Given the description of an element on the screen output the (x, y) to click on. 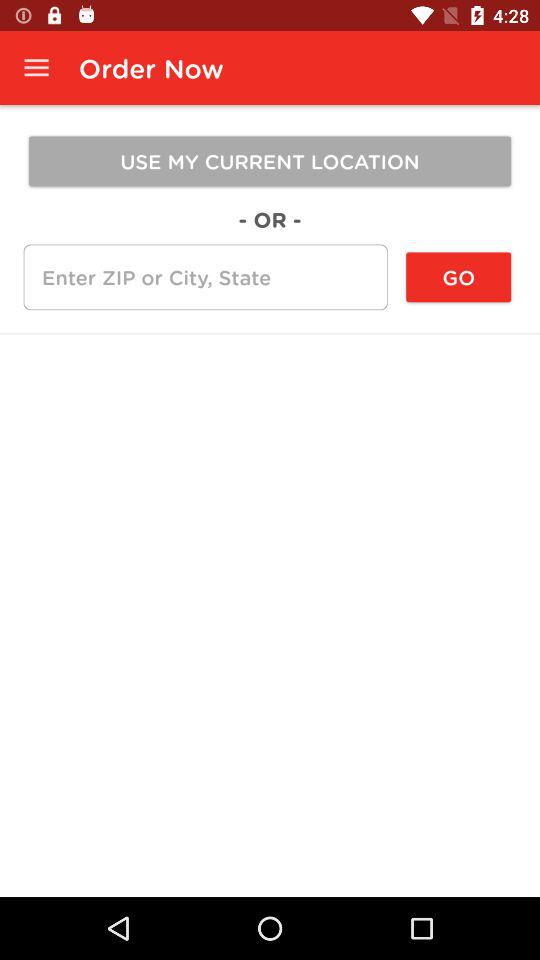
scroll to the - or - item (269, 219)
